Given the description of an element on the screen output the (x, y) to click on. 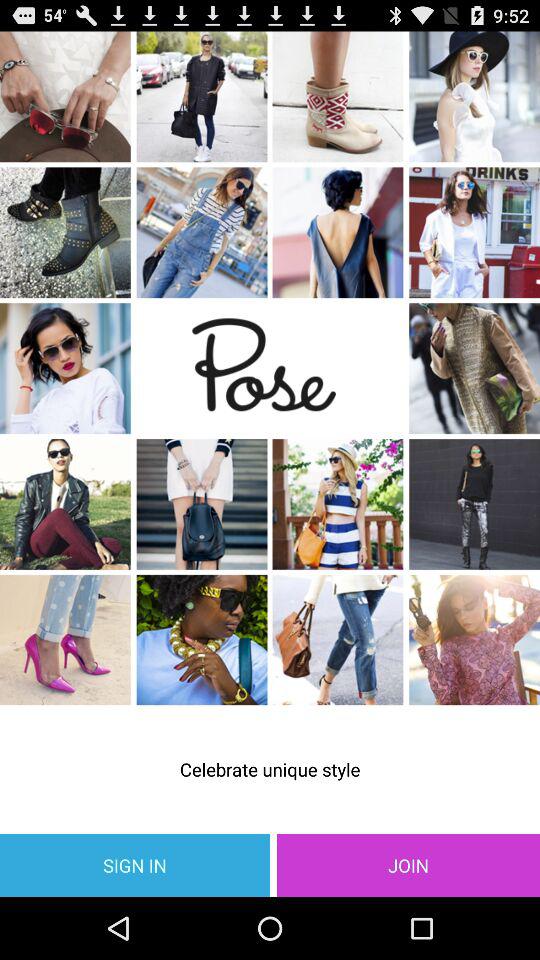
choose app below celebrate unique style icon (135, 864)
